Given the description of an element on the screen output the (x, y) to click on. 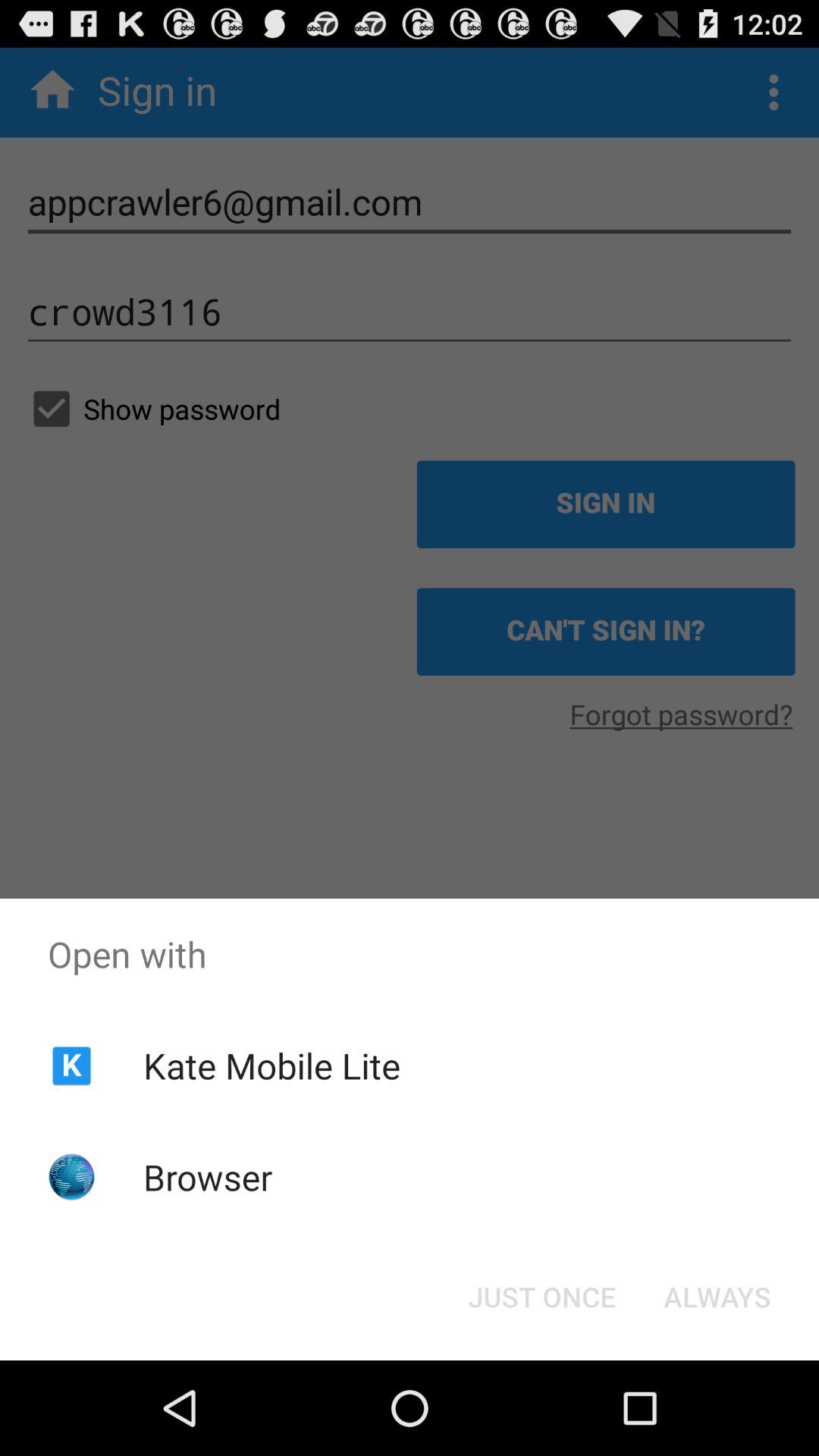
turn off just once item (541, 1296)
